Given the description of an element on the screen output the (x, y) to click on. 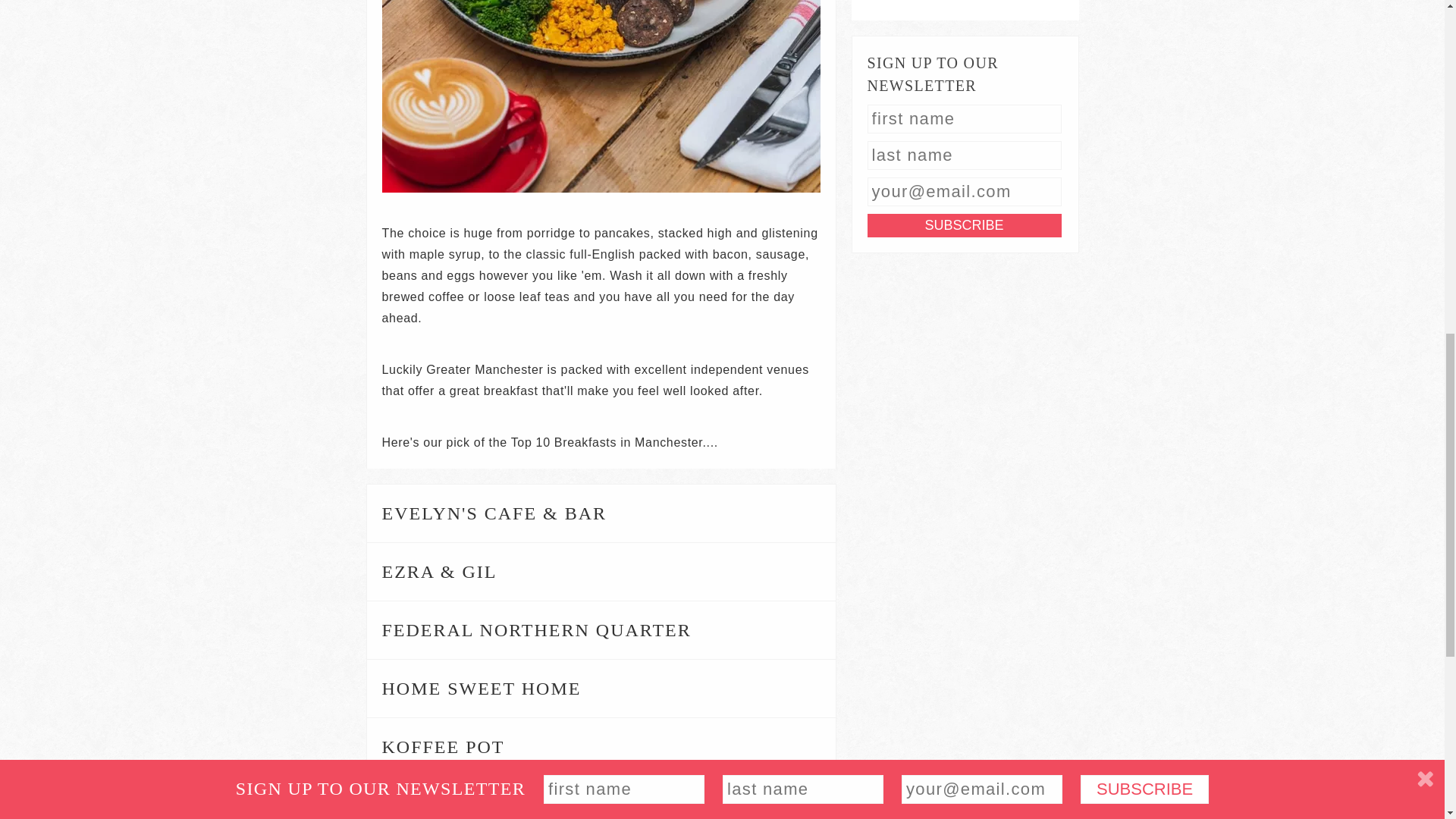
LETS FRESS DELI (600, 797)
FEDERAL NORTHERN QUARTER (600, 629)
KOFFEE POT (600, 745)
HOME SWEET HOME (600, 688)
Subscribe (964, 225)
